Given the description of an element on the screen output the (x, y) to click on. 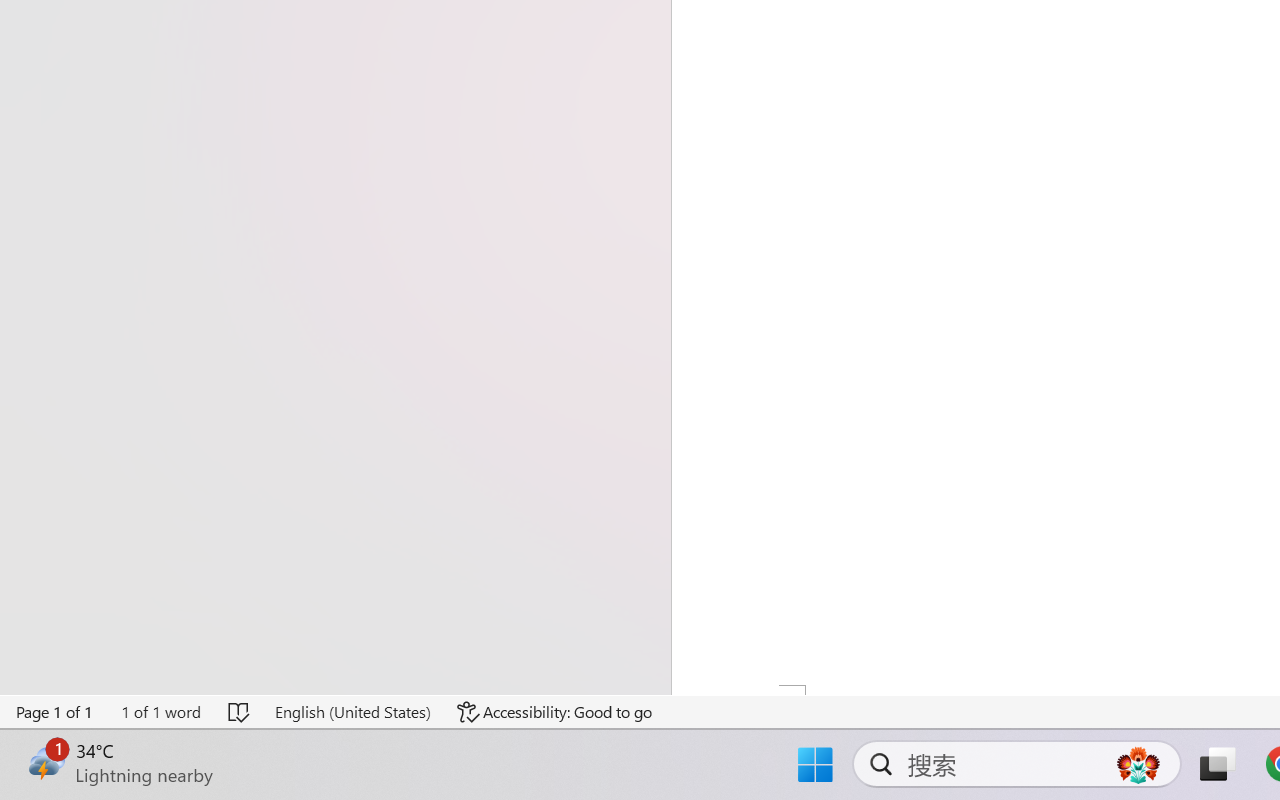
Page Number Page 1 of 1 (55, 712)
Language English (United States) (352, 712)
Spelling and Grammar Check No Errors (240, 712)
